Given the description of an element on the screen output the (x, y) to click on. 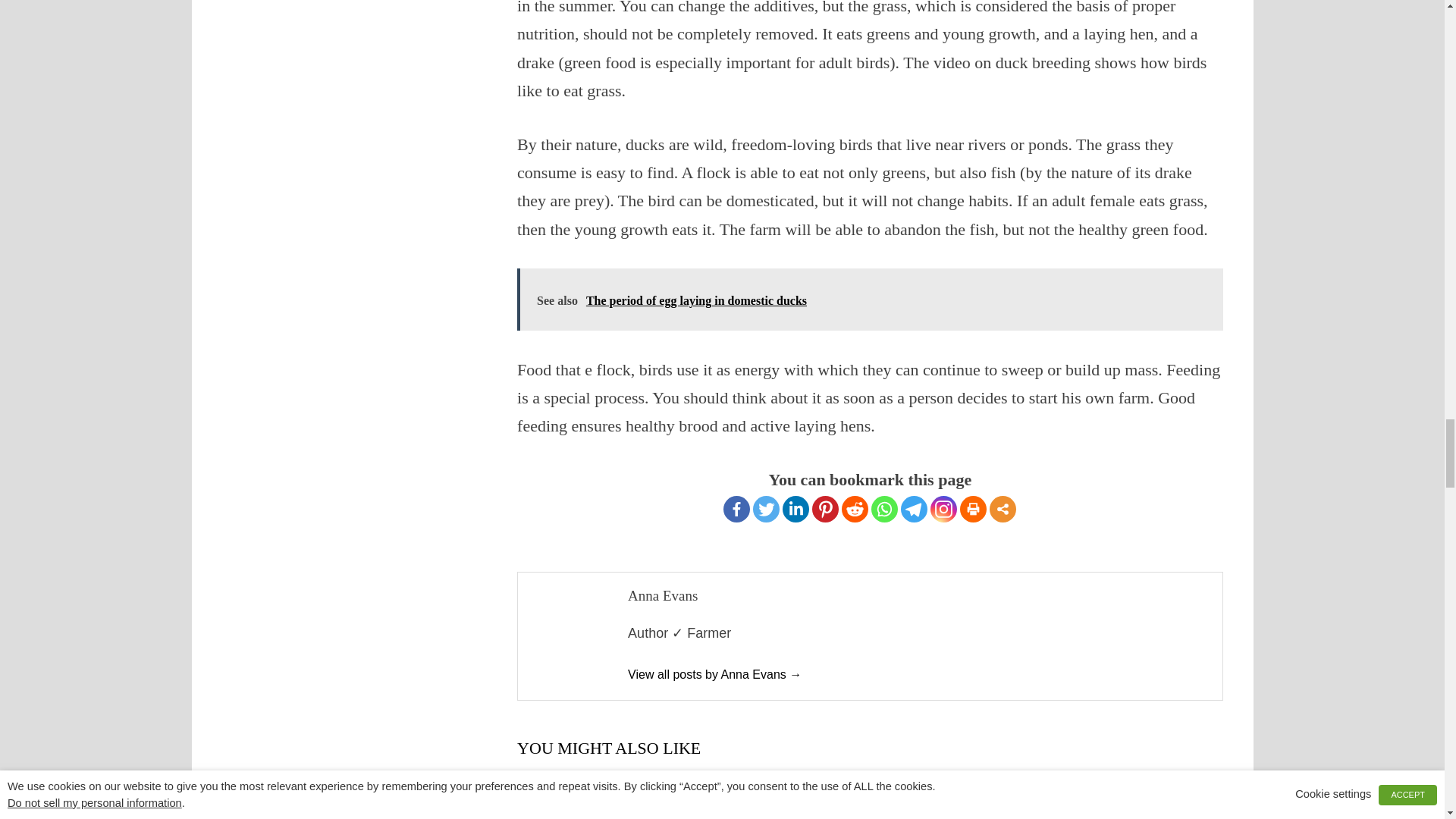
Anna Evans (714, 674)
Instagram (943, 509)
How to properly incubate duck eggs (826, 802)
Pinterest (825, 509)
Whatsapp (884, 509)
Print (973, 509)
Reddit (854, 509)
Telegram (914, 509)
Twitter (765, 509)
